Given the description of an element on the screen output the (x, y) to click on. 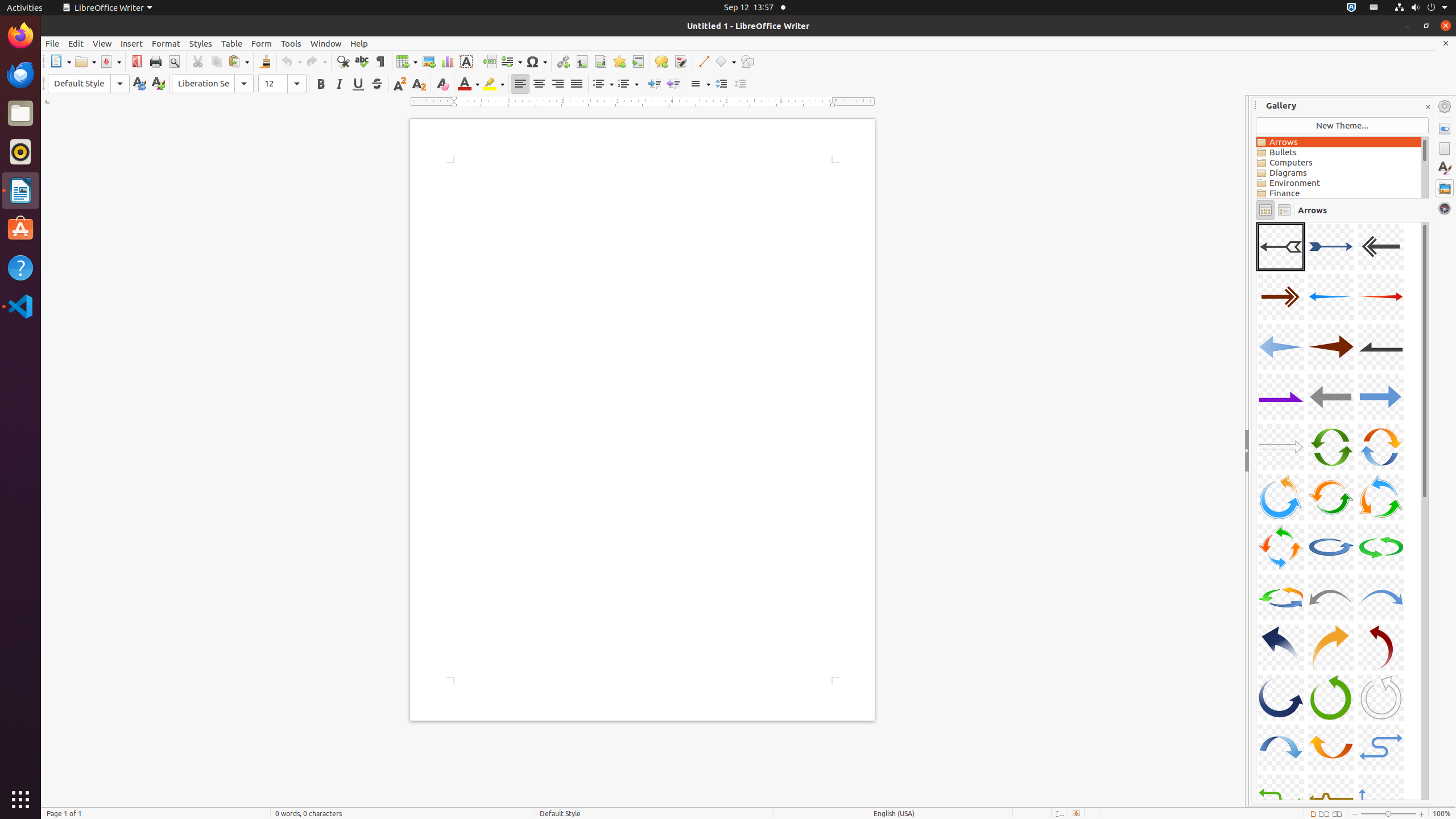
Spelling Element type: push-button (361, 61)
Show Applications Element type: toggle-button (20, 799)
Edit Element type: menu (75, 43)
Tools Element type: menu (290, 43)
Font Color Element type: push-button (468, 83)
